Given the description of an element on the screen output the (x, y) to click on. 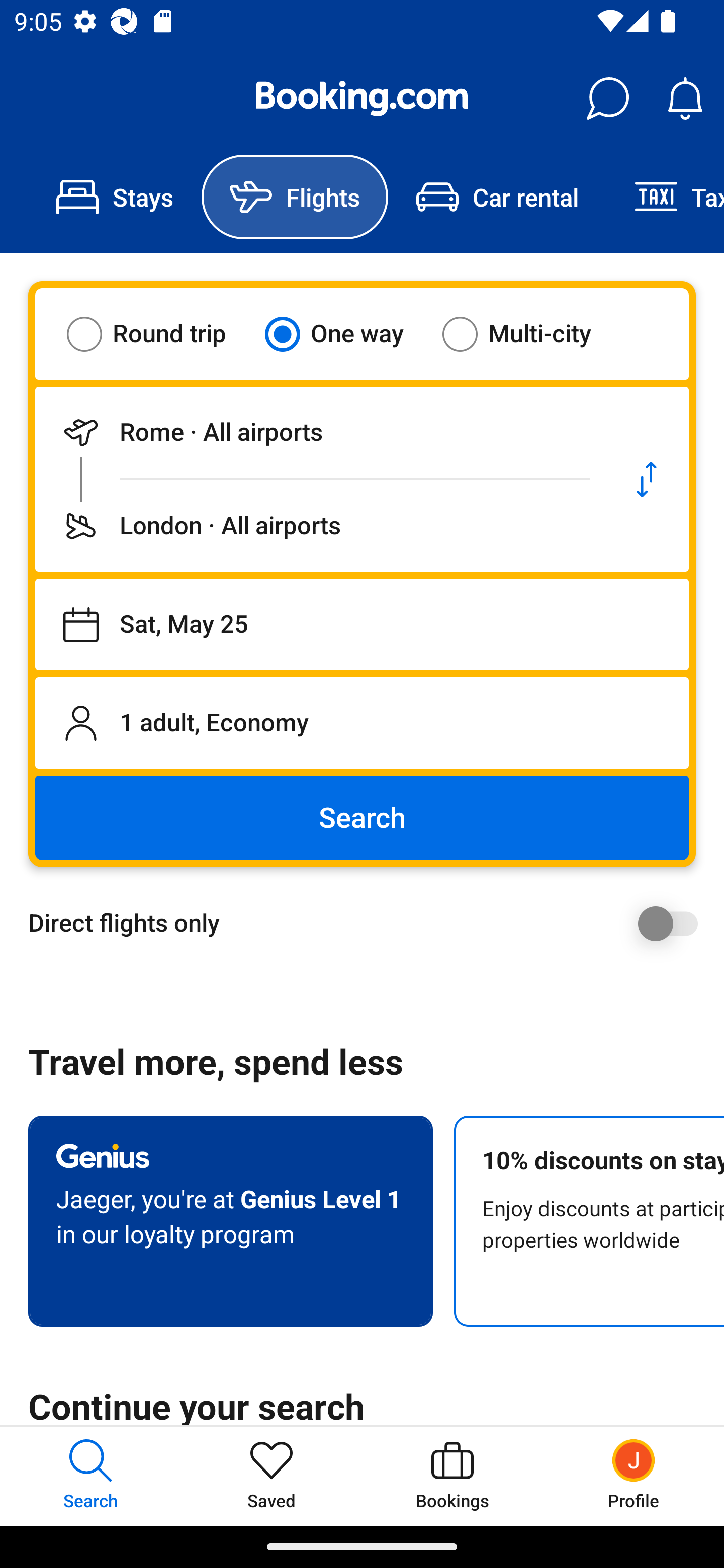
Messages (607, 98)
Notifications (685, 98)
Stays (114, 197)
Flights (294, 197)
Car rental (497, 197)
Taxi (665, 197)
Round trip (158, 333)
Multi-city (528, 333)
Departing from Rome · All airports (319, 432)
Swap departure location and destination (646, 479)
Flying to London · All airports (319, 525)
Departing on Sat, May 25 (361, 624)
1 adult, Economy (361, 722)
Search (361, 818)
Direct flights only (369, 923)
Saved (271, 1475)
Bookings (452, 1475)
Profile (633, 1475)
